Given the description of an element on the screen output the (x, y) to click on. 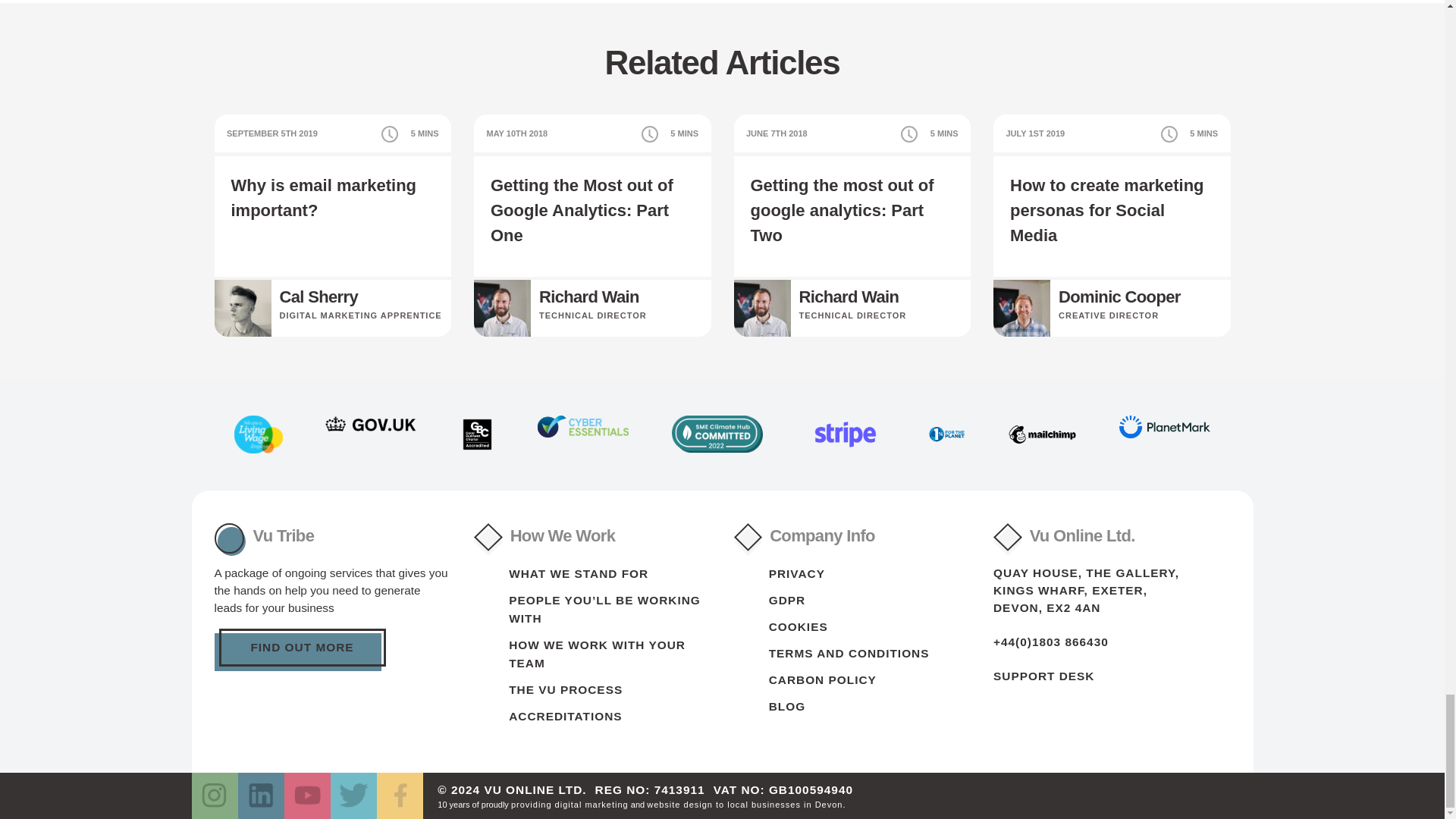
The Vu Blog (786, 706)
